Given the description of an element on the screen output the (x, y) to click on. 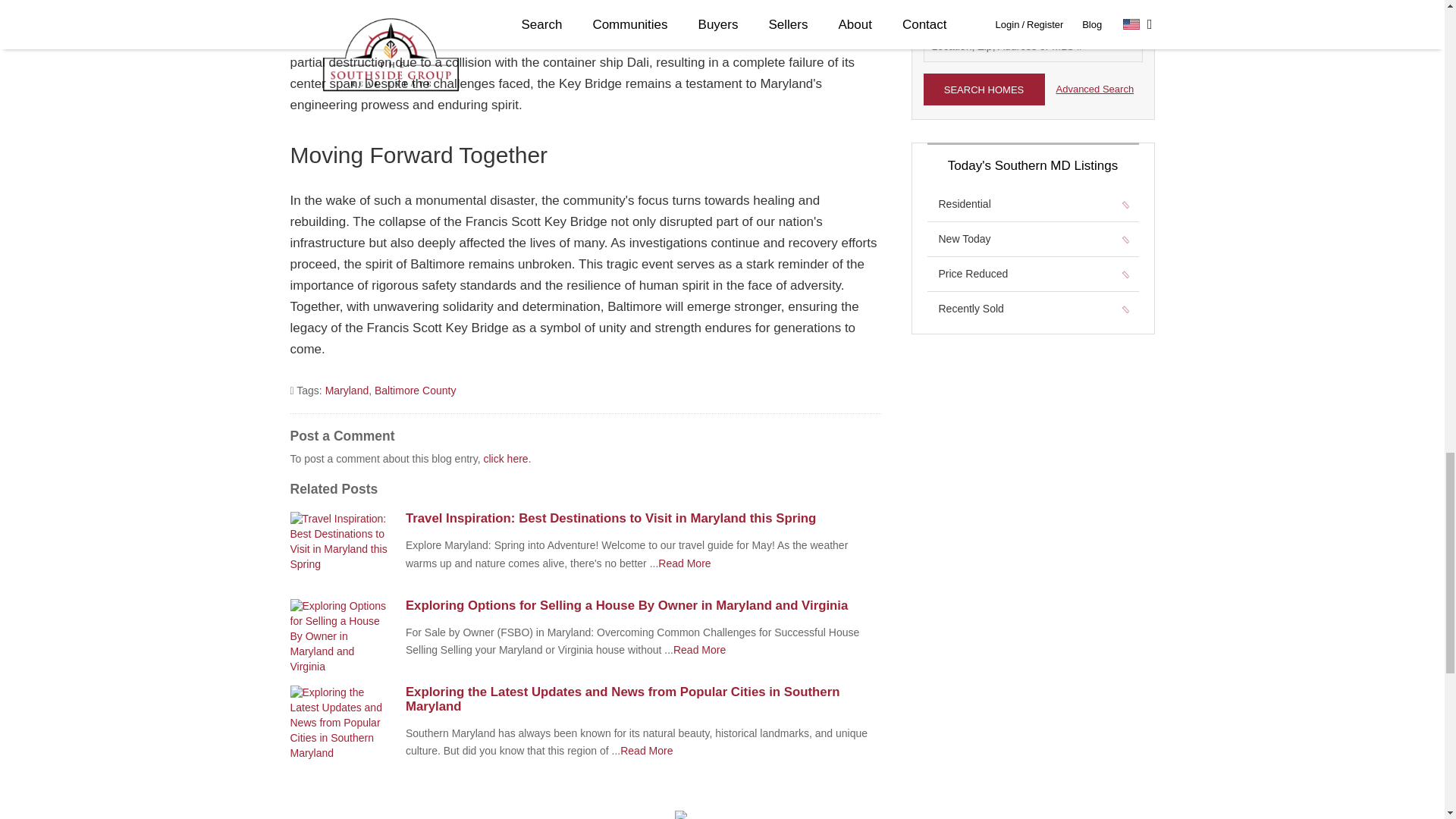
Breaking News: Baltimore Key Bridge Collapse (698, 649)
Breaking News: Baltimore Key Bridge Collapse (684, 563)
